Given the description of an element on the screen output the (x, y) to click on. 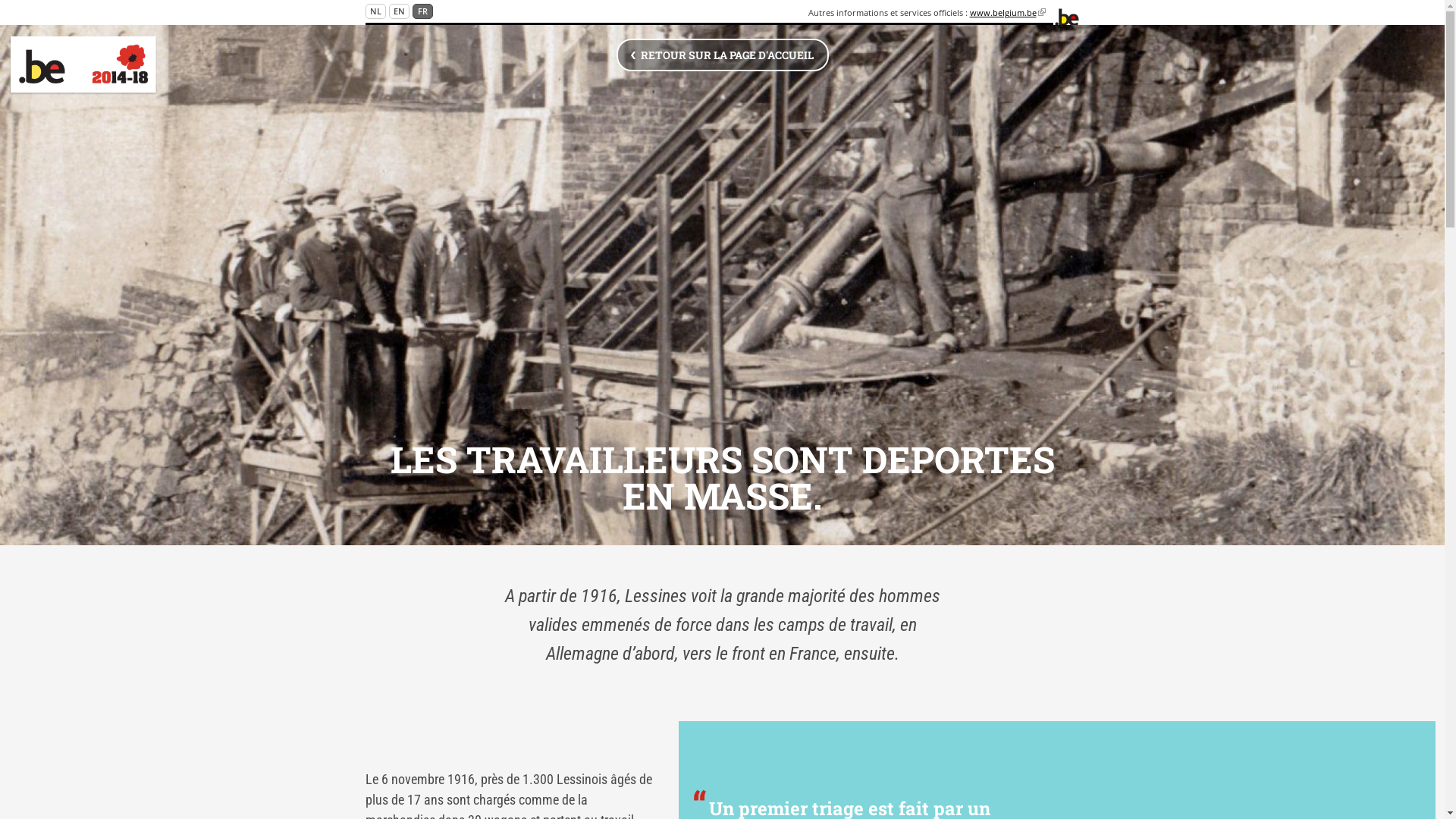
RETOUR SUR LA PAGE D'ACCUEIL Element type: text (722, 54)
Return to the Victims Of War home page Element type: hover (83, 65)
FR Element type: text (422, 10)
VICTIMS OF WAR Element type: text (156, 67)
Skip to main content Element type: text (54, 0)
EN Element type: text (399, 10)
NL Element type: text (375, 10)
www.belgium.be
(link is external) Element type: text (1007, 12)
